Given the description of an element on the screen output the (x, y) to click on. 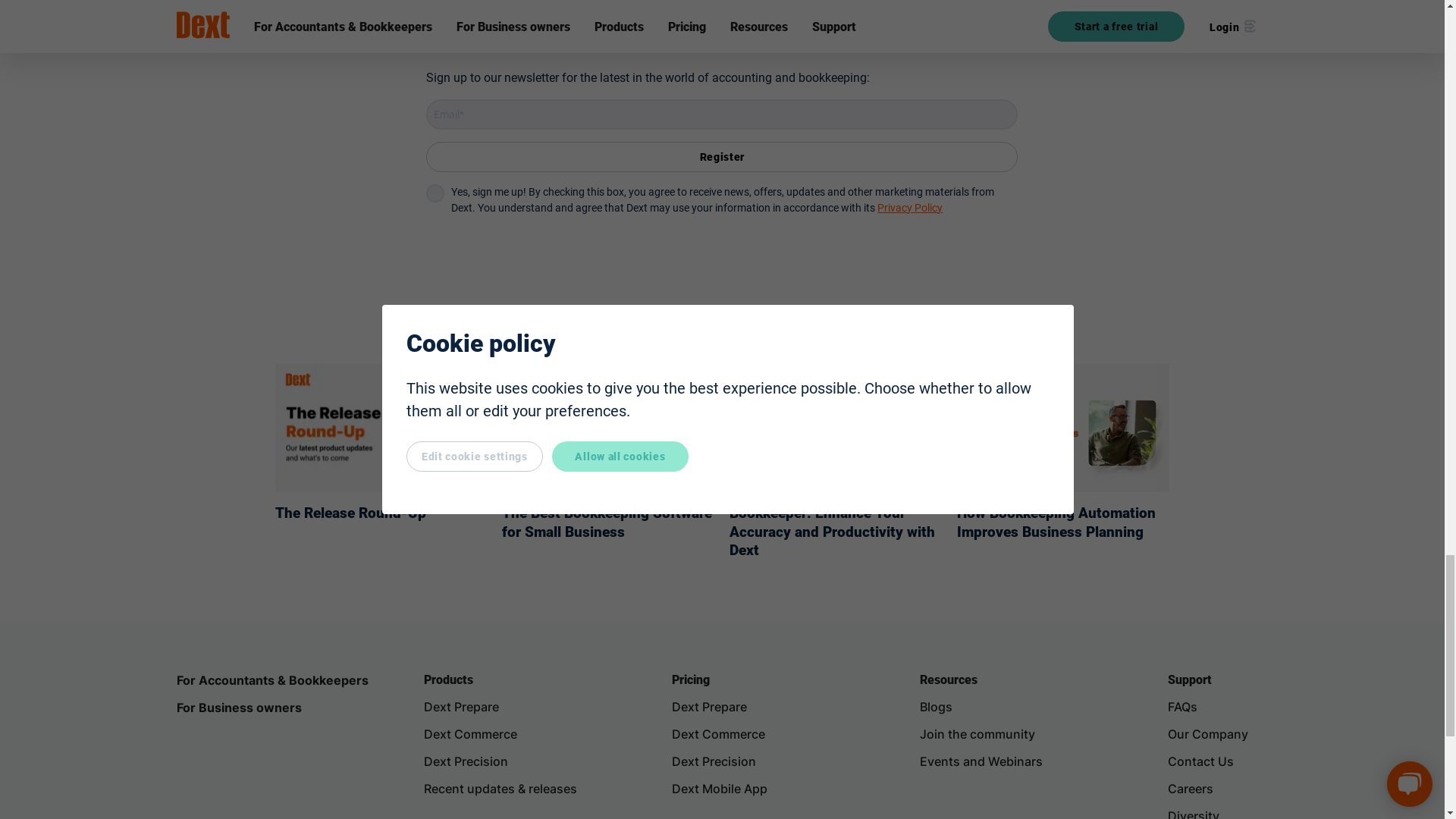
Our Company (1207, 734)
Register (721, 156)
Dext Prepare (708, 706)
The Best Bookkeeping Software for Small Business (606, 522)
Dext Commerce (469, 734)
Blogs (936, 706)
The Release Round-Up (350, 512)
Download now (755, 9)
Join the community (977, 734)
Dext Mobile App (719, 788)
